Given the description of an element on the screen output the (x, y) to click on. 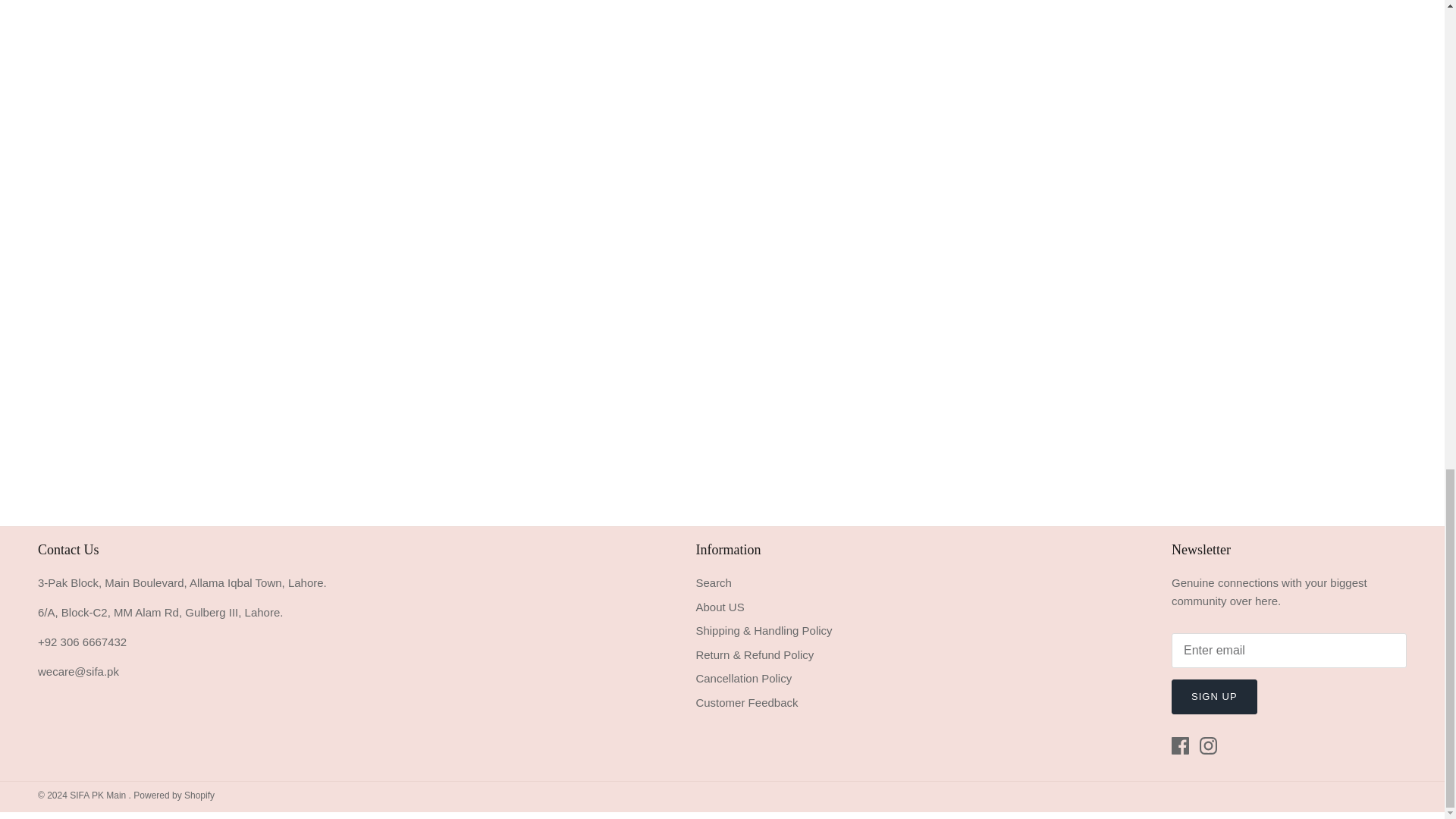
Facebook (1180, 745)
Instagram (1208, 745)
